Given the description of an element on the screen output the (x, y) to click on. 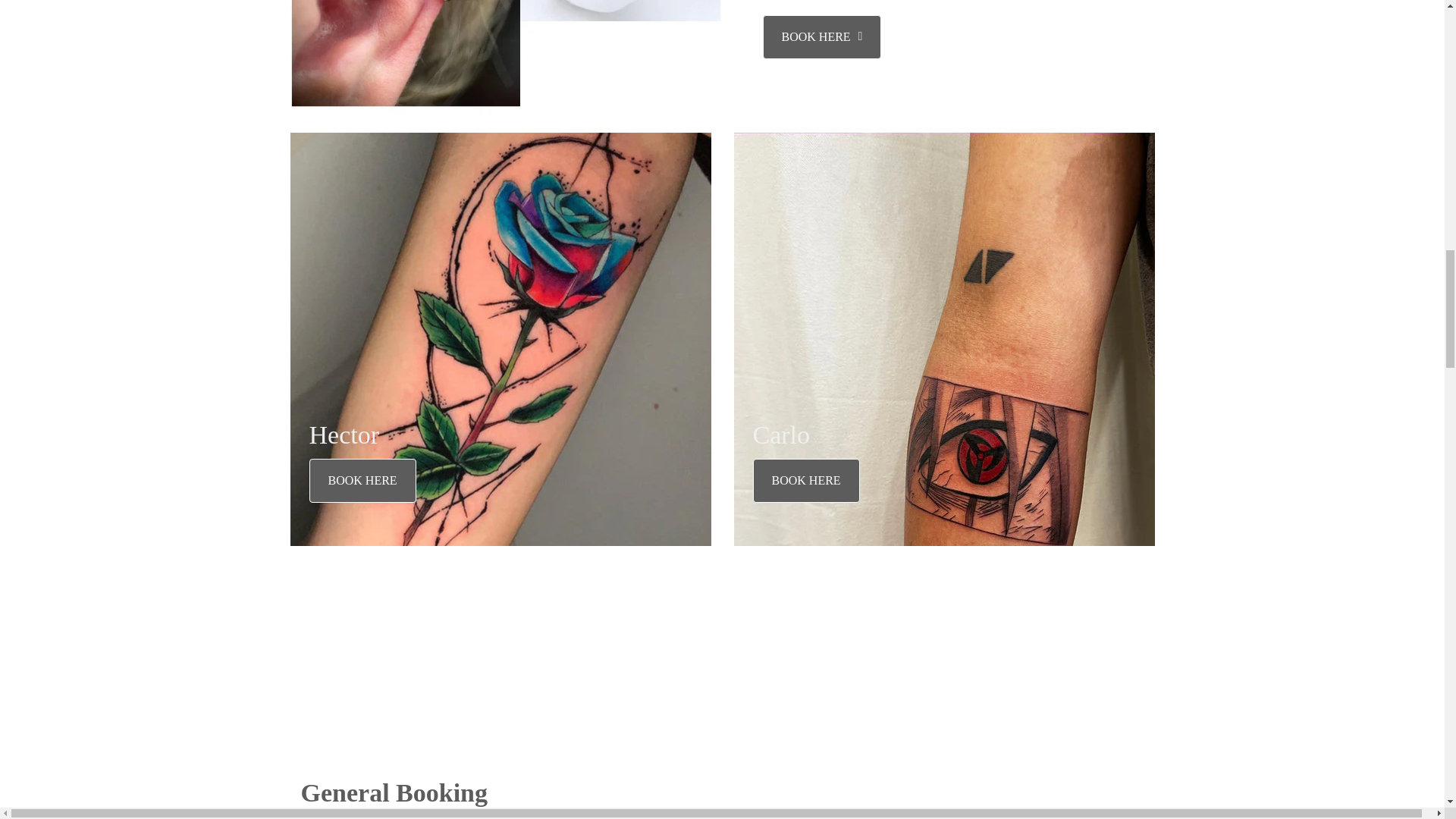
BOOK HERE (362, 480)
BOOK HERE (822, 36)
BOOK HERE (353, 817)
BOOK HERE (805, 480)
